Given the description of an element on the screen output the (x, y) to click on. 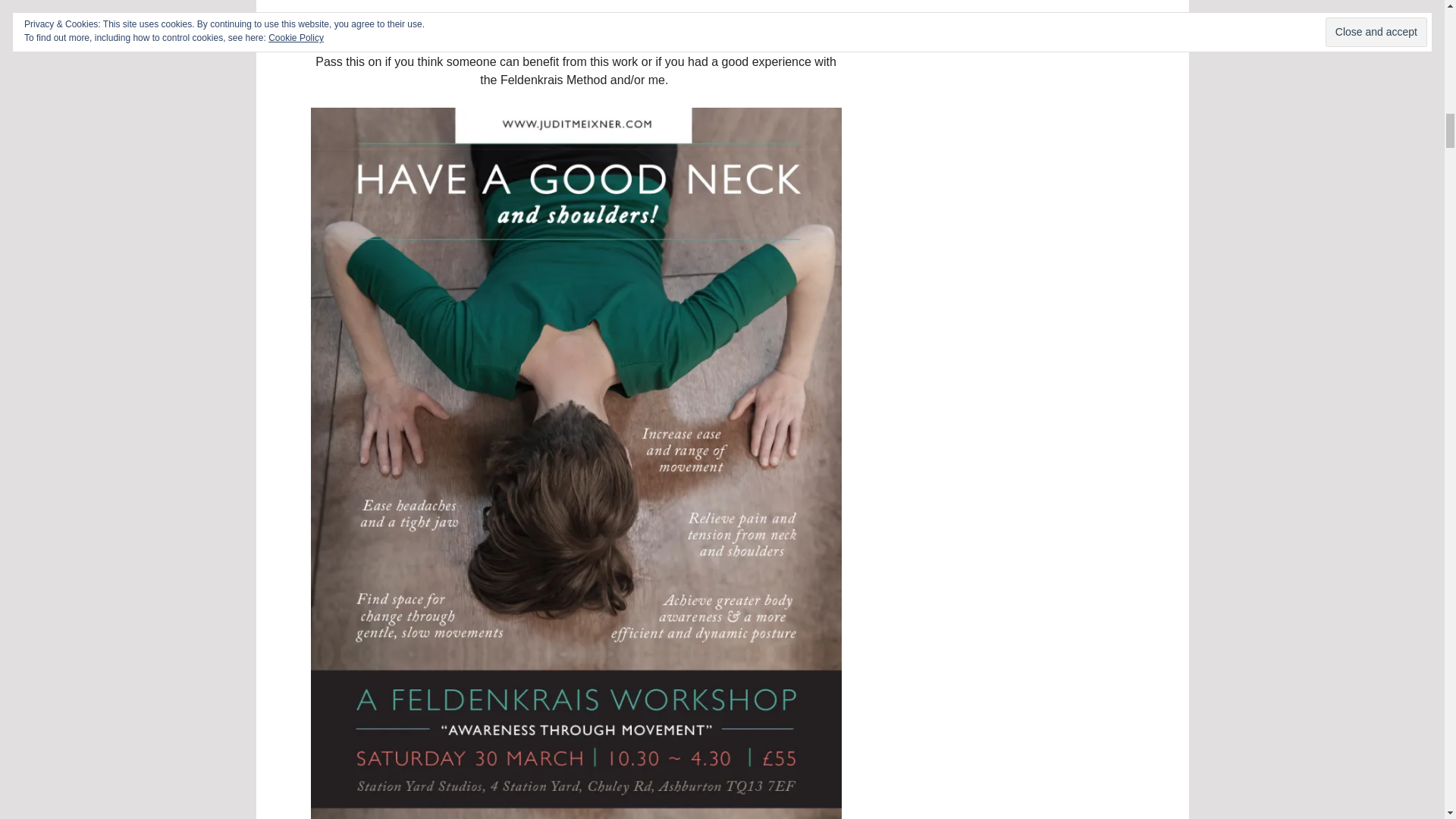
BOOK (424, 24)
